Given the description of an element on the screen output the (x, y) to click on. 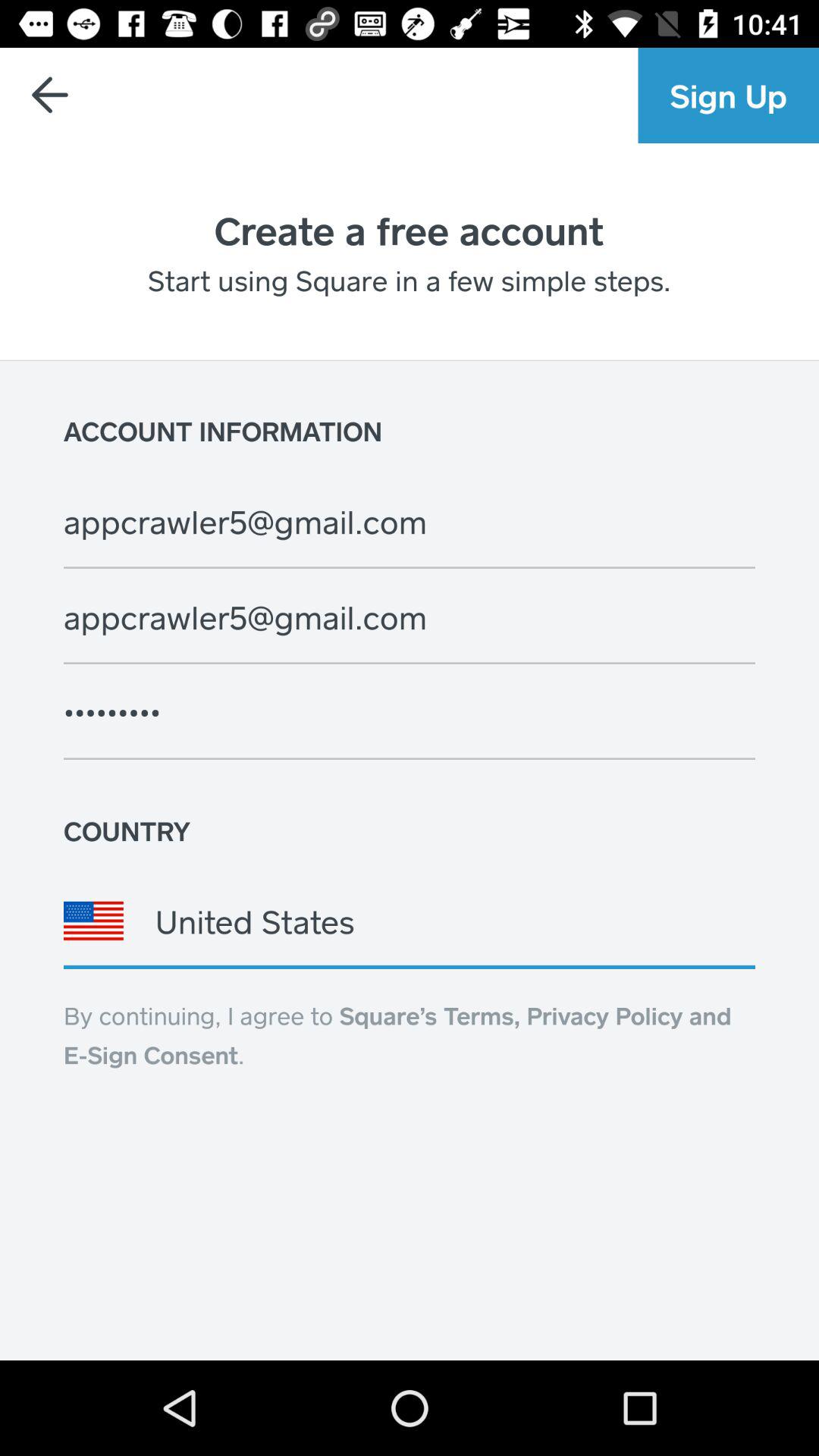
turn off start using square icon (408, 279)
